Given the description of an element on the screen output the (x, y) to click on. 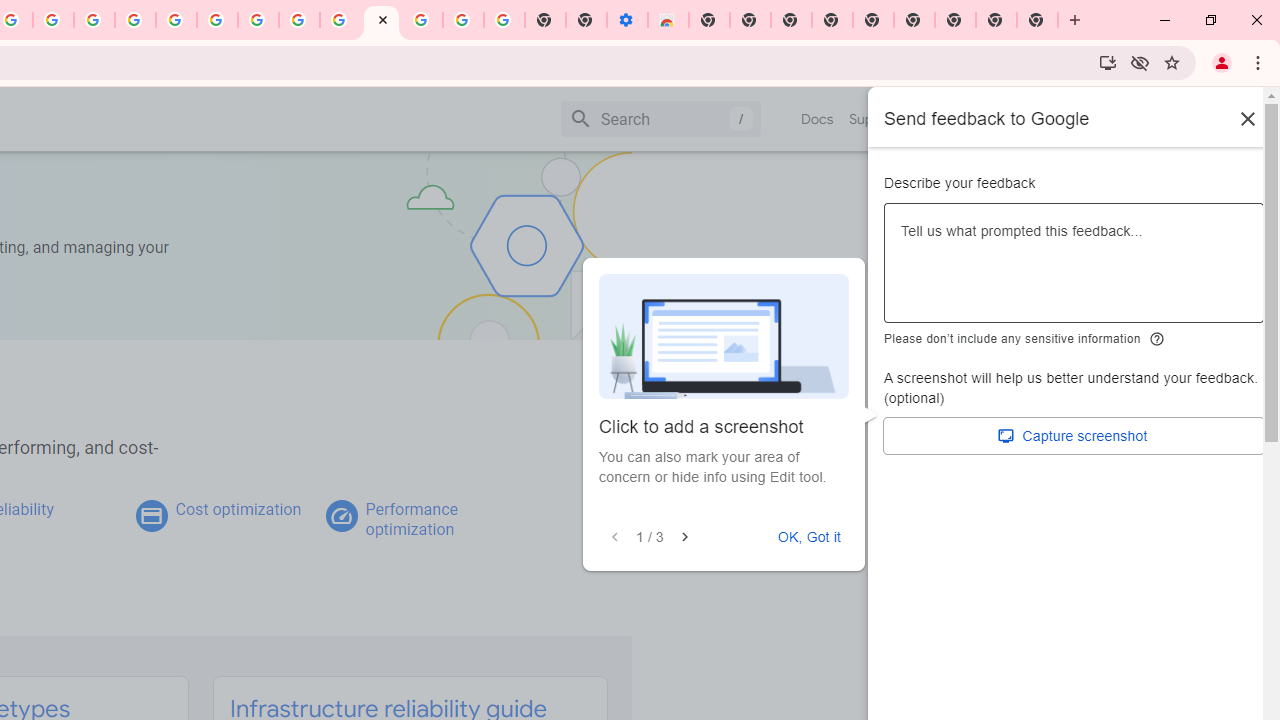
English (985, 118)
Create your Google Account (299, 20)
Chrome Web Store - Accessibility extensions (667, 20)
Support (874, 119)
Google Account Help (217, 20)
New Tab (955, 20)
Turn cookies on or off - Computer - Google Account Help (503, 20)
